Given the description of an element on the screen output the (x, y) to click on. 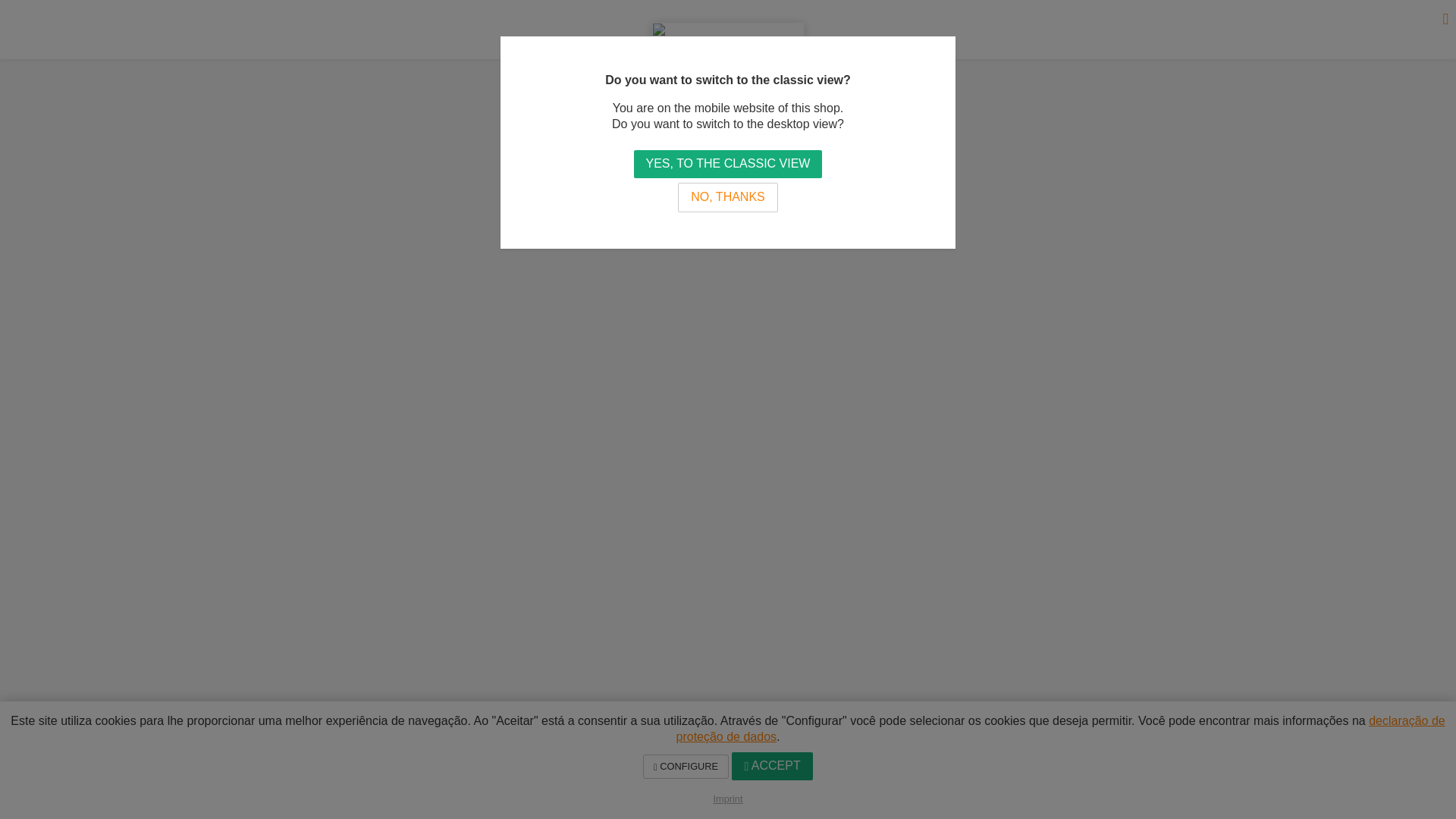
IMAGE INFORMATION (727, 236)
YES, TO THE CLASSIC VIEW (727, 163)
NO, THANKS (727, 197)
